Given the description of an element on the screen output the (x, y) to click on. 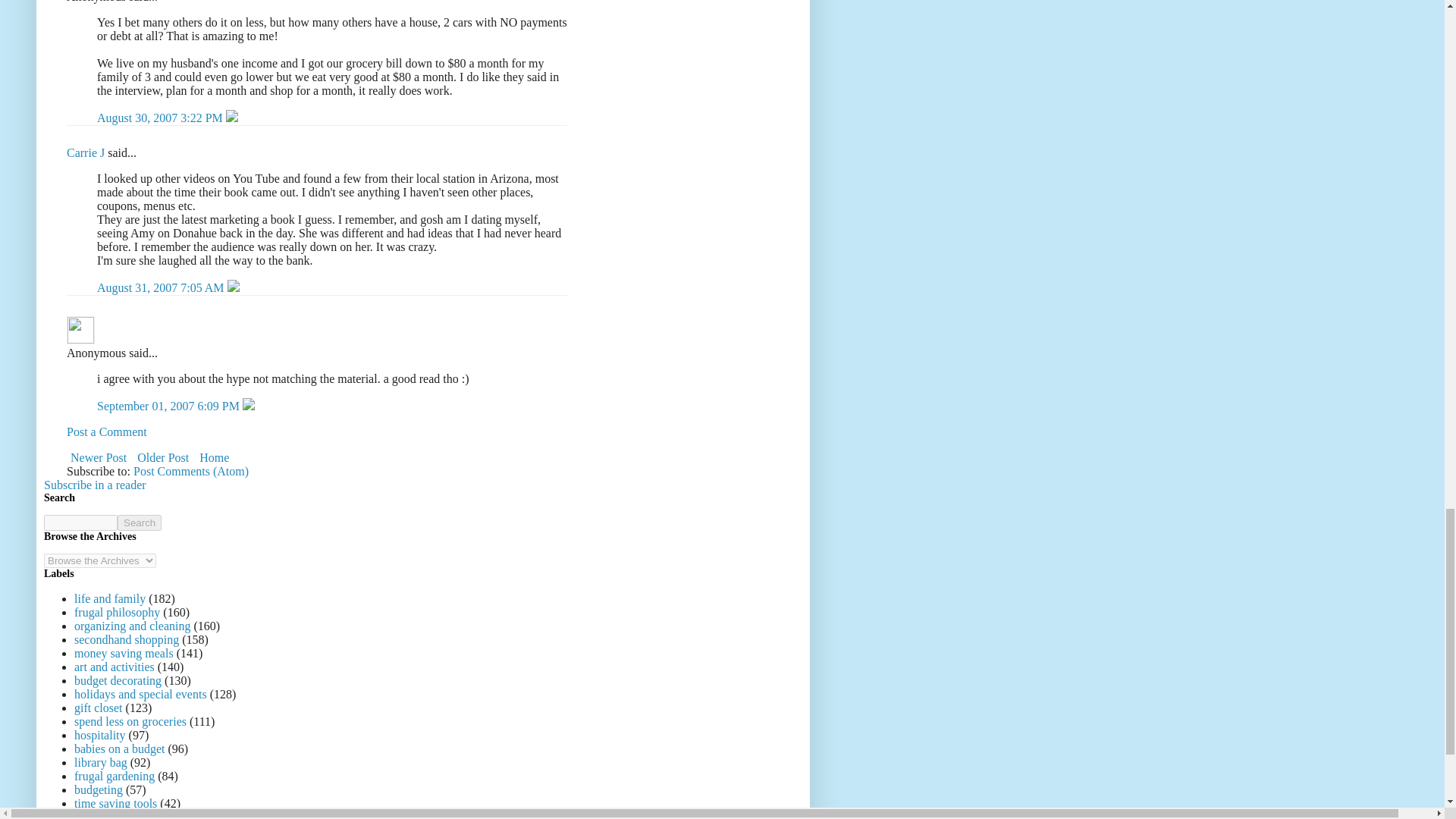
August 30, 2007 3:22 PM (161, 117)
Search (139, 522)
Search (139, 522)
